Given the description of an element on the screen output the (x, y) to click on. 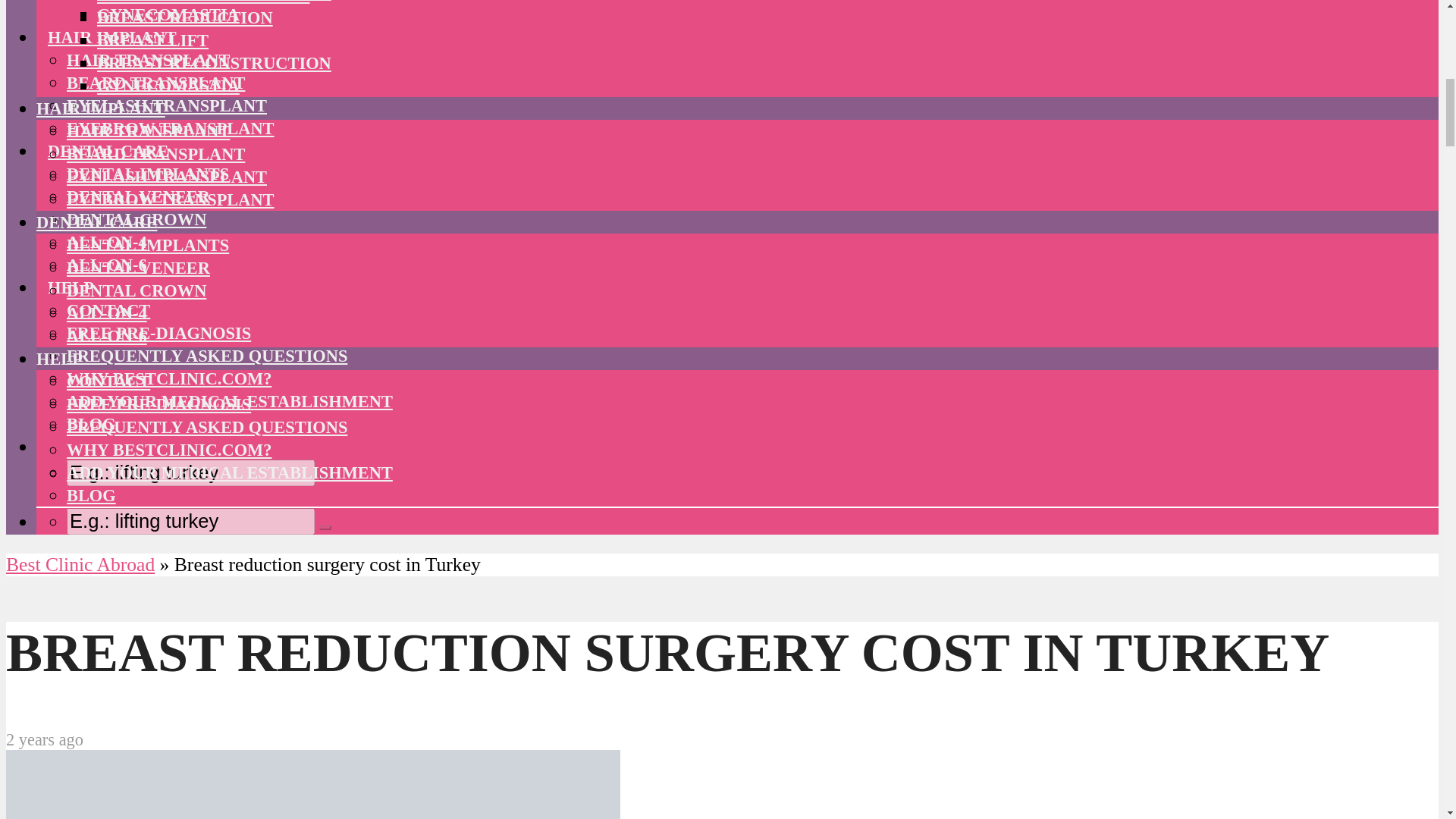
E.g.: lifting turkey (190, 472)
GYNECOMASTIA (168, 14)
E.g.: lifting turkey (190, 472)
E.g.: lifting turkey (190, 520)
BEARD TRANSPLANT (155, 82)
HAIR IMPLANT (111, 37)
E.g.: lifting turkey (190, 520)
HAIR TRANSPLANT (148, 59)
